Given the description of an element on the screen output the (x, y) to click on. 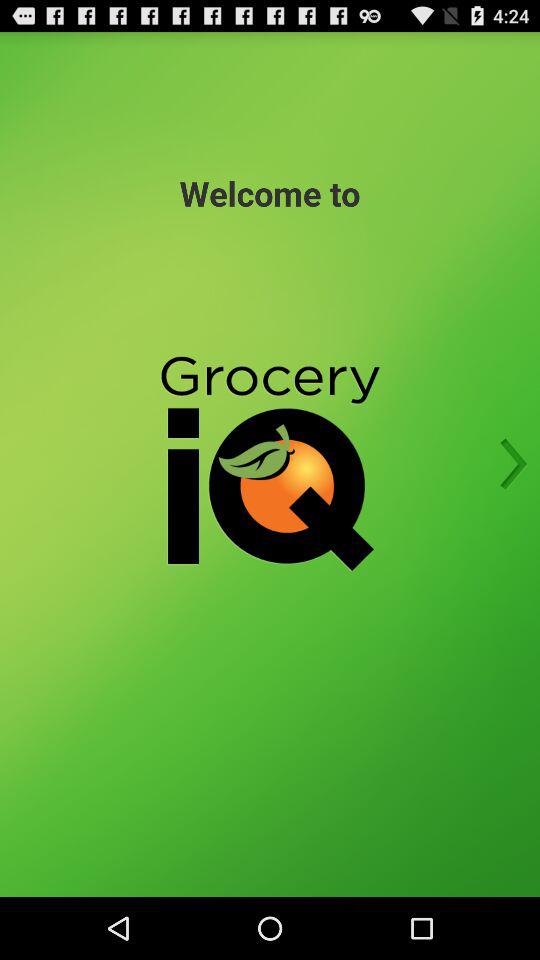
go to next (507, 464)
